Given the description of an element on the screen output the (x, y) to click on. 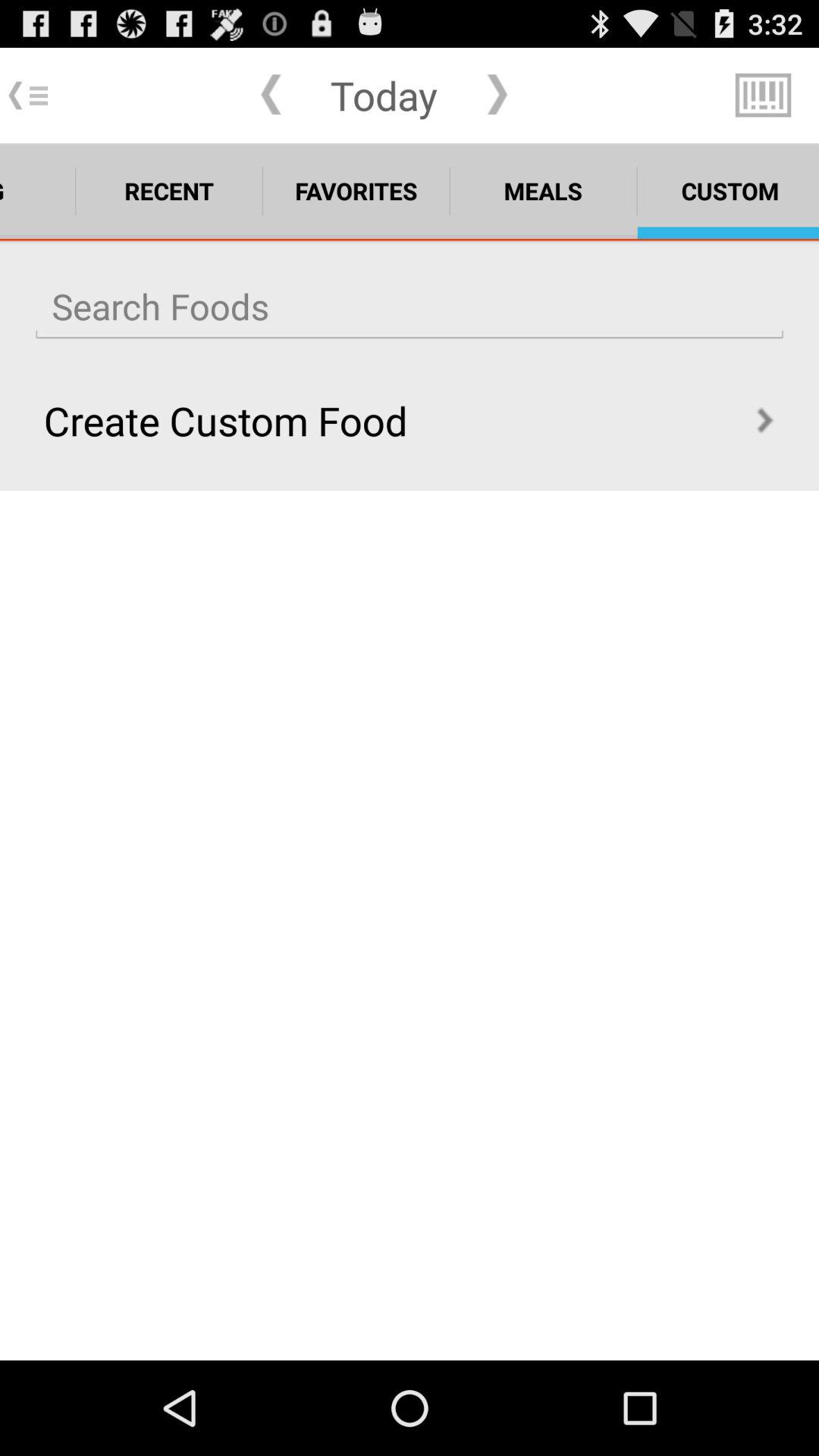
search for foods (409, 306)
